Given the description of an element on the screen output the (x, y) to click on. 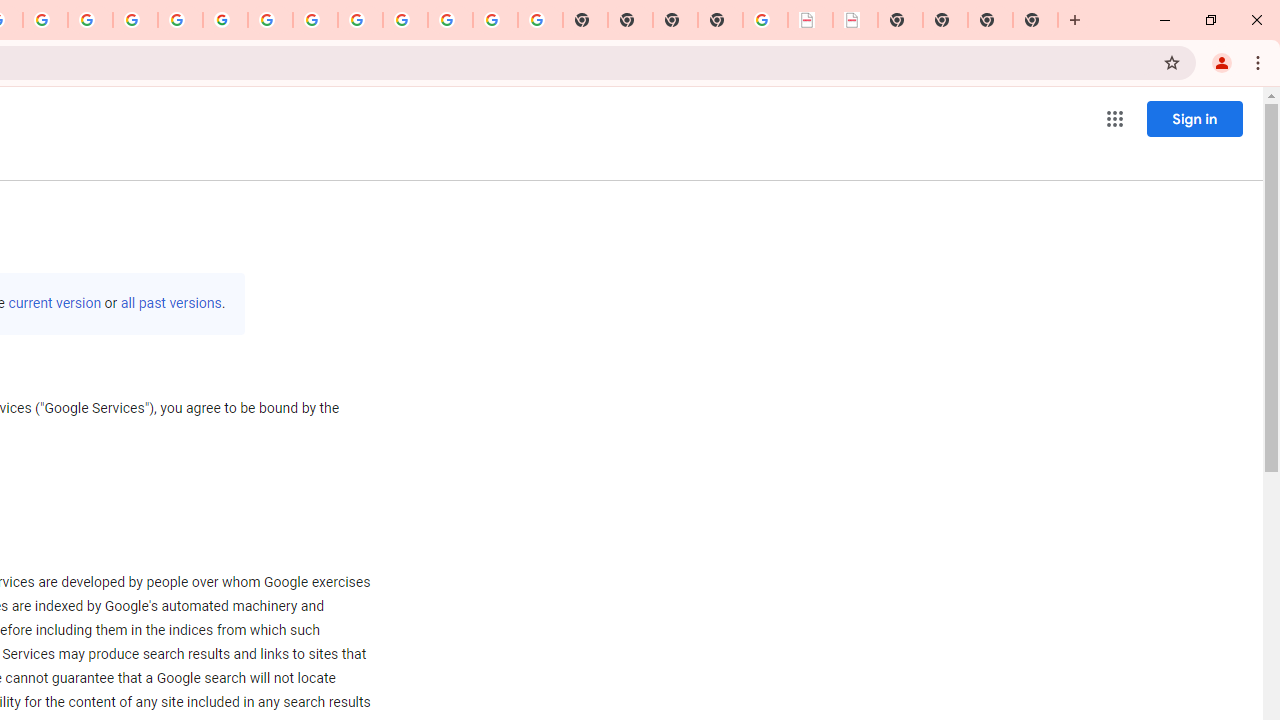
LAAD Defence & Security 2025 | BAE Systems (810, 20)
New Tab (1035, 20)
Browse Chrome as a guest - Computer - Google Chrome Help (315, 20)
YouTube (270, 20)
BAE Systems Brasil | BAE Systems (855, 20)
current version (54, 303)
all past versions (170, 303)
